Given the description of an element on the screen output the (x, y) to click on. 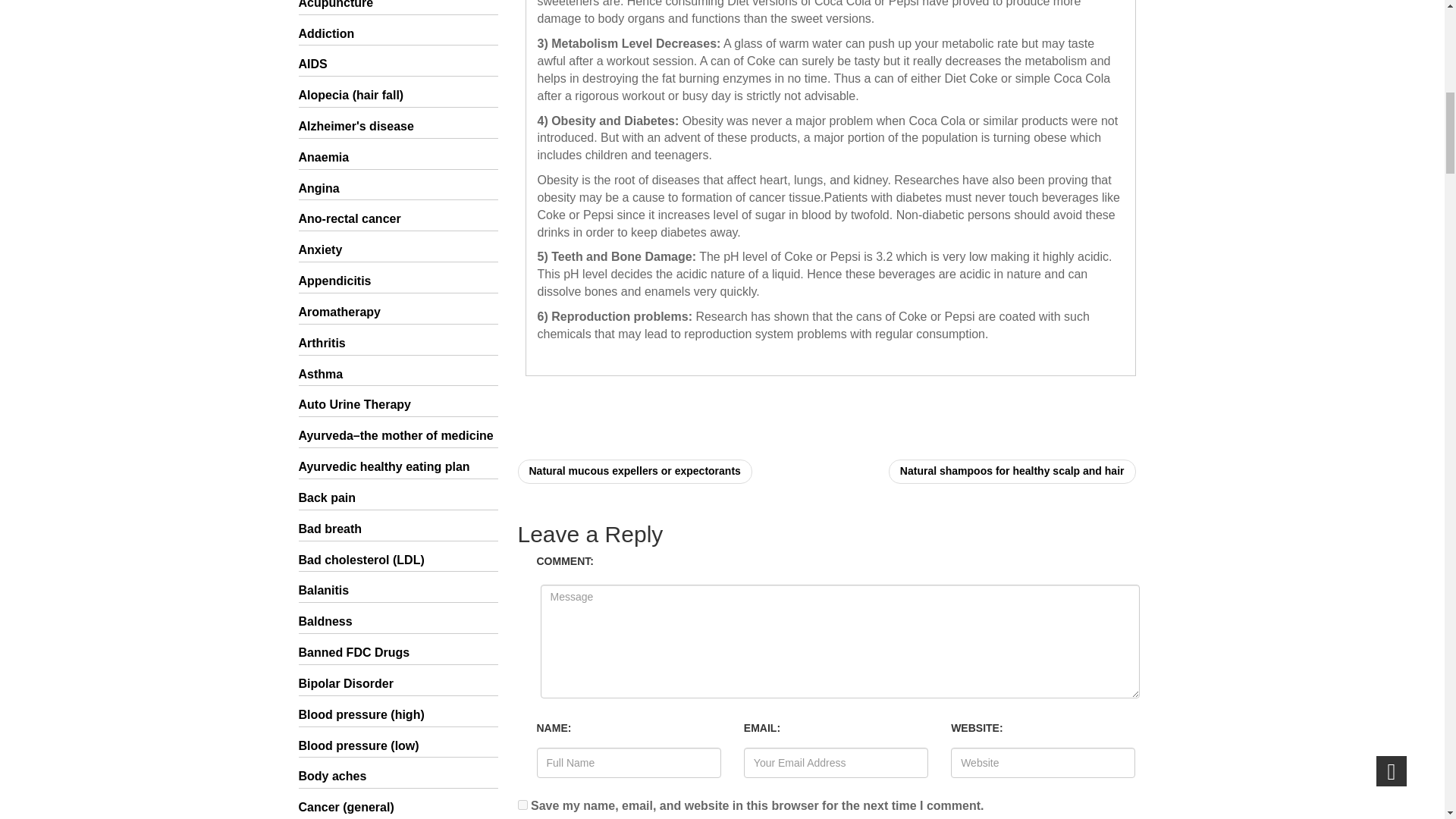
Bad breath (397, 529)
Asthma (397, 375)
Ano-rectal cancer (397, 219)
Ayurvedic healthy eating plan (397, 466)
Arthritis (397, 343)
Acupuncture (397, 6)
Baldness (397, 621)
Auto Urine Therapy (397, 405)
Aromatherapy (397, 312)
Balanitis (397, 590)
